Given the description of an element on the screen output the (x, y) to click on. 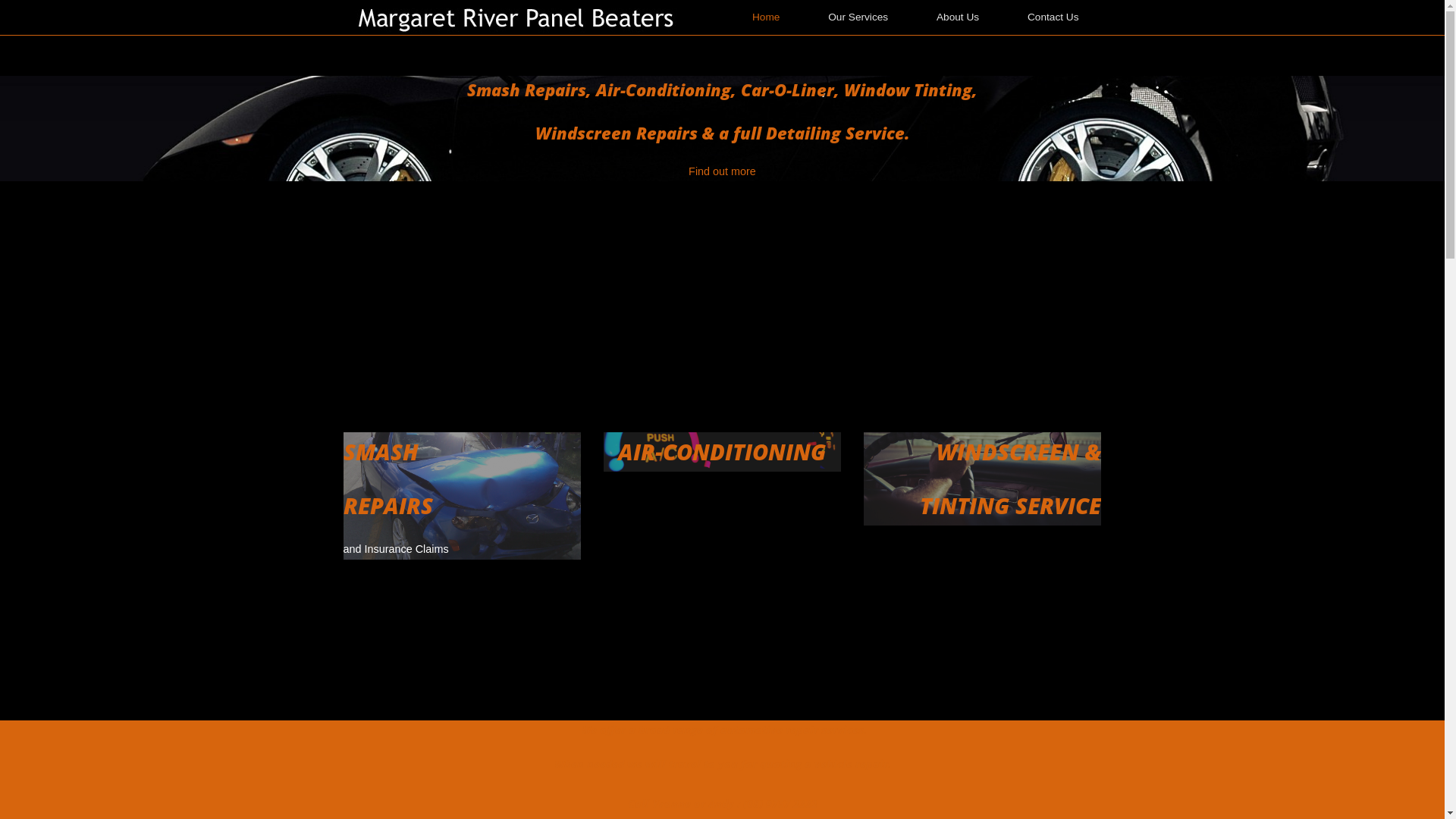
Home Element type: text (520, 17)
About Us Element type: text (957, 17)
Find out more Element type: text (722, 171)
Our Services Element type: text (857, 17)
Contact Us Element type: text (1052, 17)
Home Element type: text (765, 17)
